Given the description of an element on the screen output the (x, y) to click on. 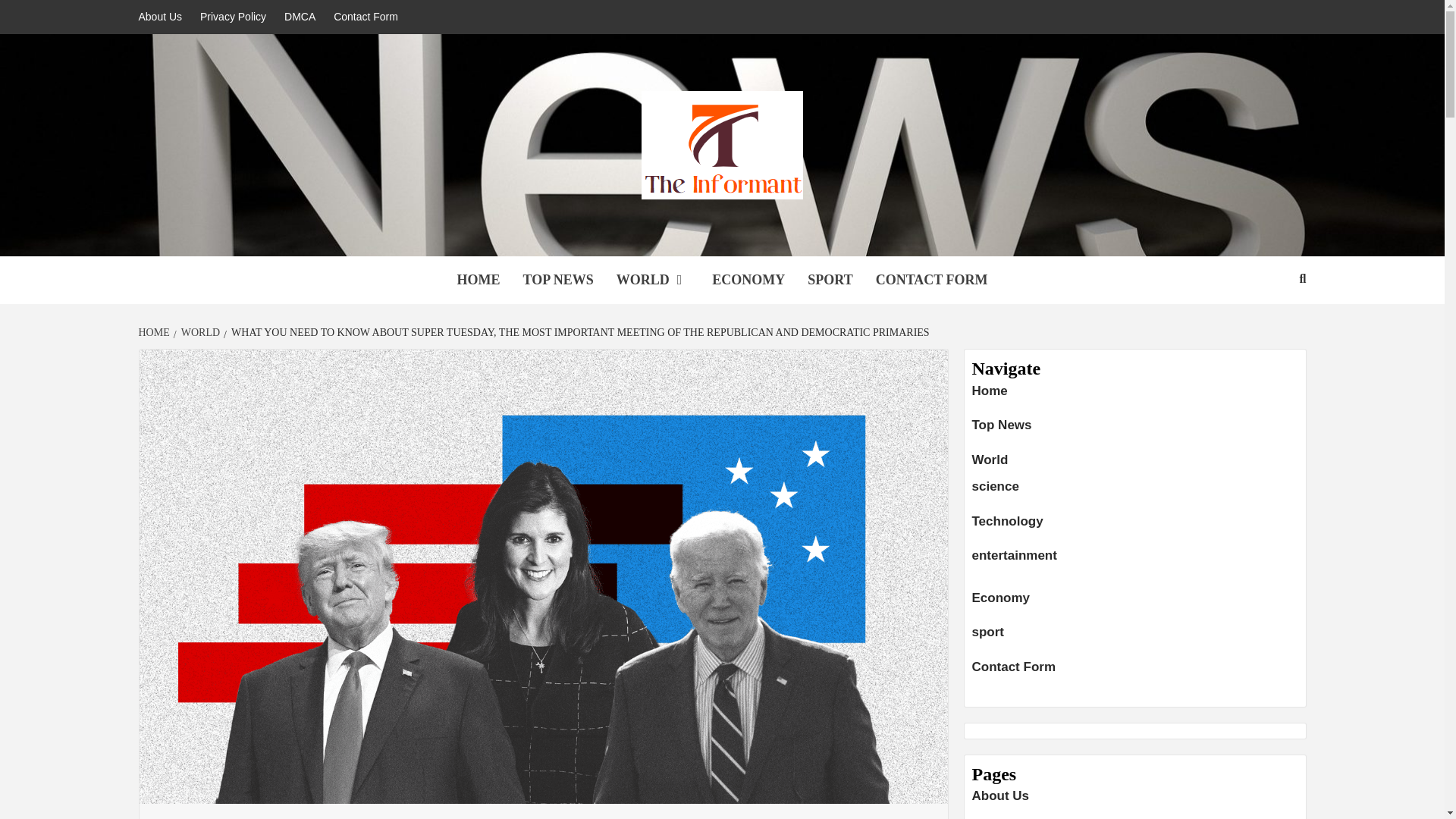
WORLD (653, 279)
Privacy Policy (232, 17)
WORLD (198, 332)
HOME (155, 332)
ECONOMY (748, 279)
CONTACT FORM (931, 279)
TOP NEWS (557, 279)
DMCA (299, 17)
Contact Form (366, 17)
HOME (478, 279)
THE INFORMANT (469, 236)
About Us (163, 17)
SPORT (829, 279)
